Given the description of an element on the screen output the (x, y) to click on. 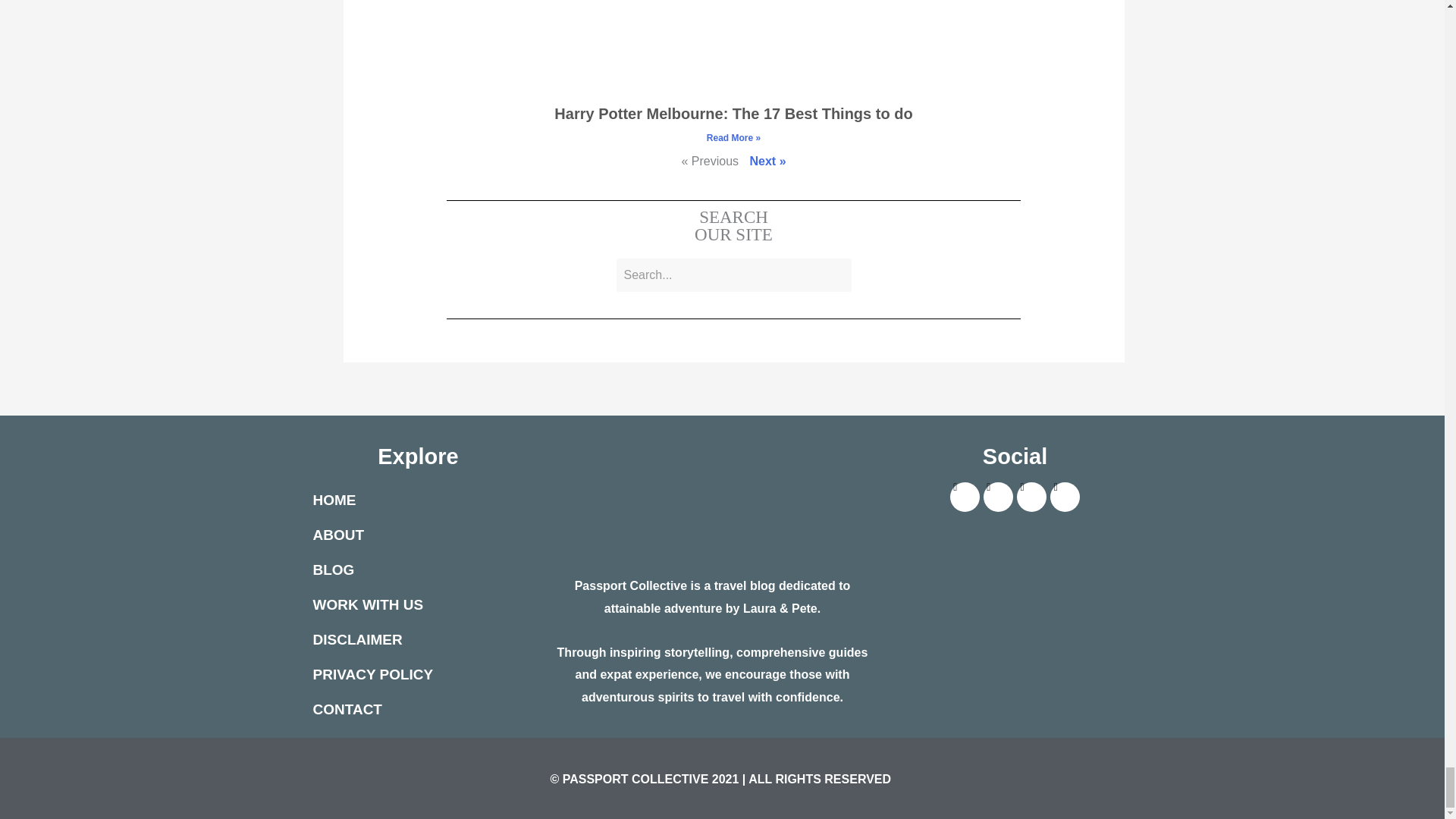
Search (732, 274)
